Given the description of an element on the screen output the (x, y) to click on. 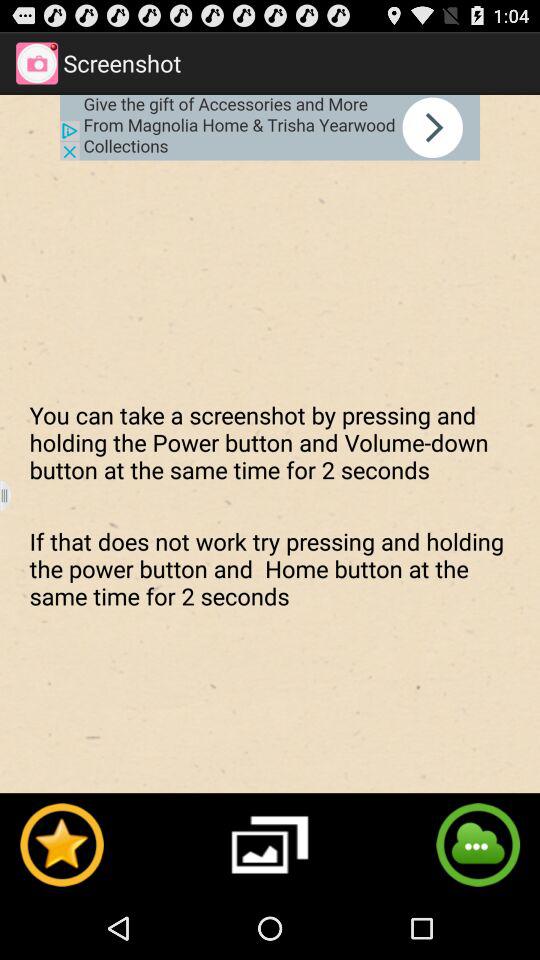
share the screenshot (478, 844)
